Given the description of an element on the screen output the (x, y) to click on. 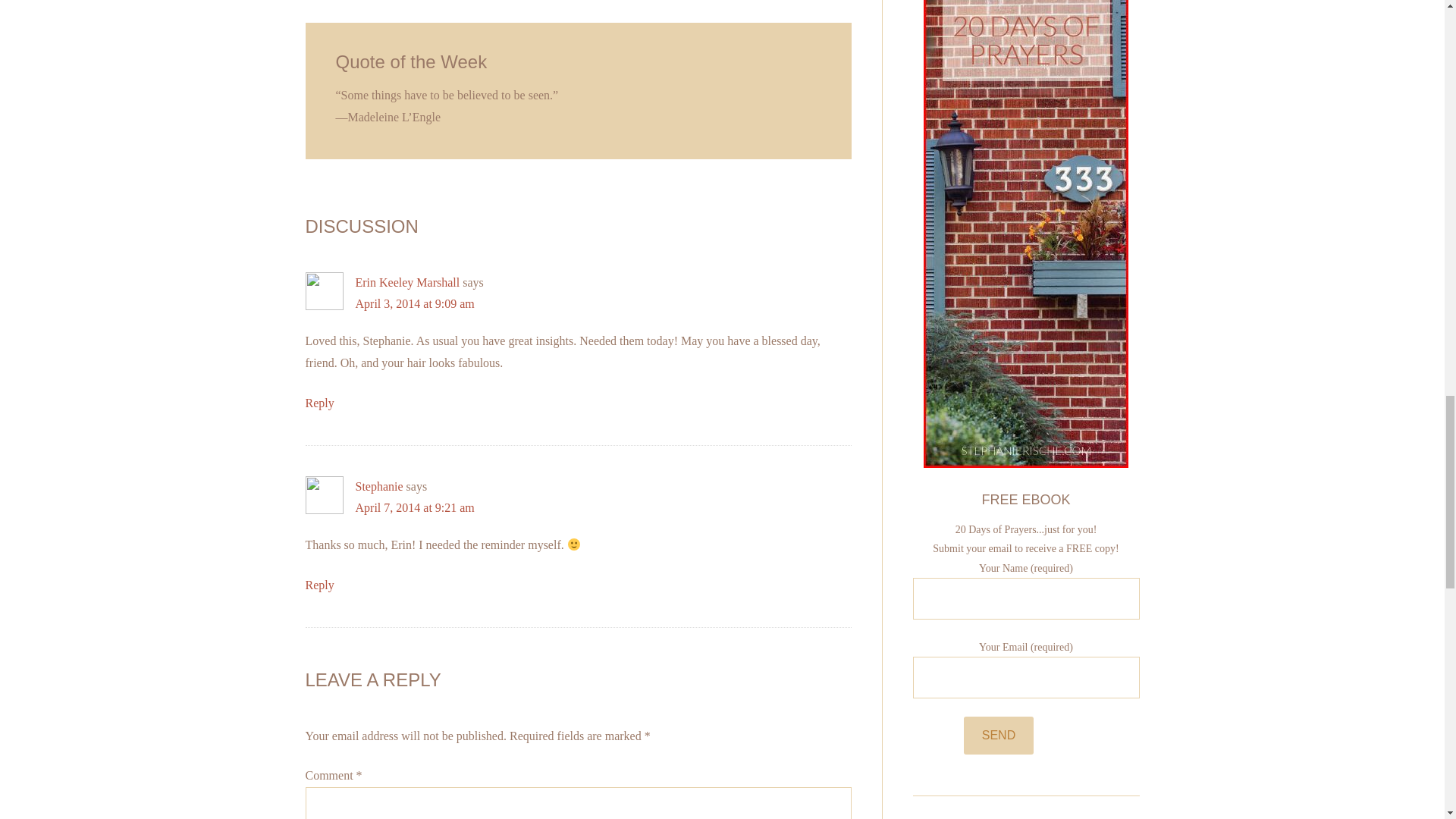
Reply (318, 584)
Send (998, 735)
Send (998, 735)
Erin Keeley Marshall (407, 282)
Stephanie (379, 486)
April 3, 2014 at 9:09 am (414, 303)
Reply (318, 402)
April 7, 2014 at 9:21 am (414, 507)
